Given the description of an element on the screen output the (x, y) to click on. 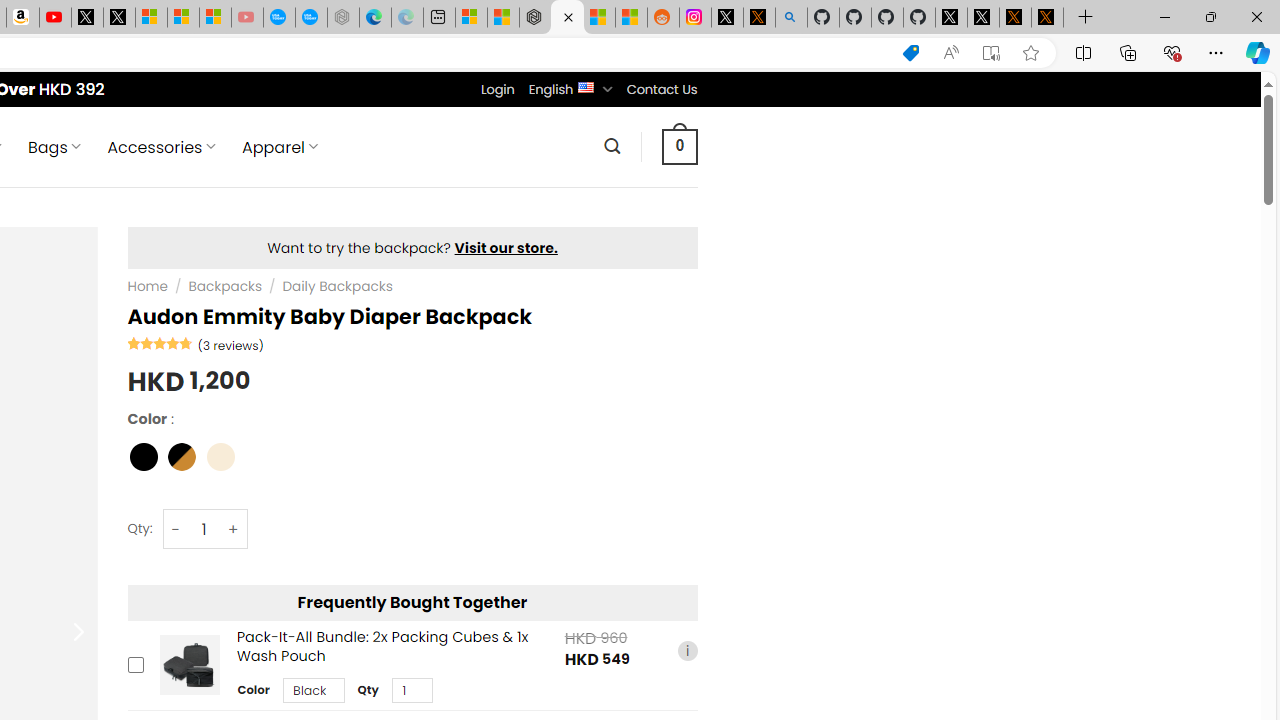
Daily Backpacks (336, 286)
English (586, 86)
Profile / X (950, 17)
GitHub (@github) / X (983, 17)
Backpacks (225, 286)
- (175, 529)
Gloom - YouTube - Sleeping (246, 17)
Visit our store. (506, 247)
